Given the description of an element on the screen output the (x, y) to click on. 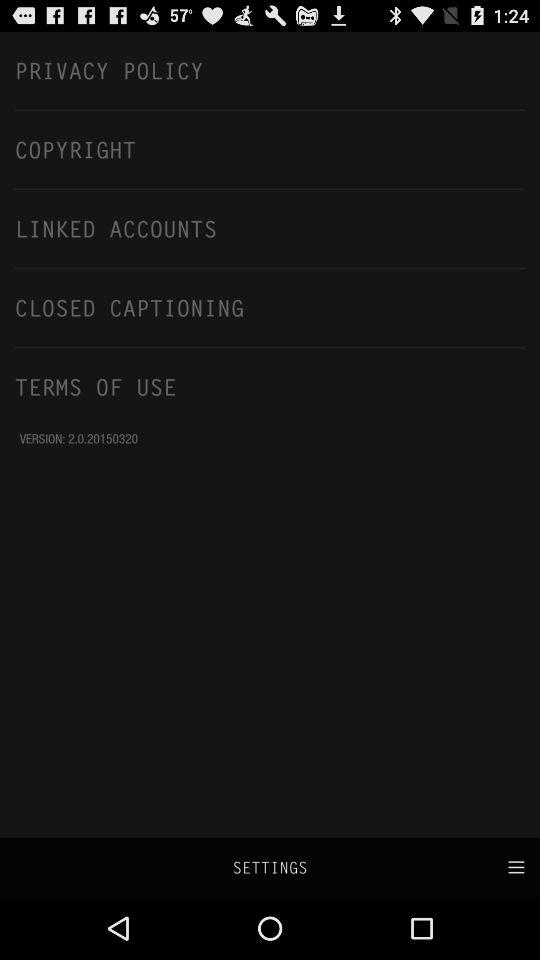
tap the icon above the version 2 0 item (270, 386)
